Given the description of an element on the screen output the (x, y) to click on. 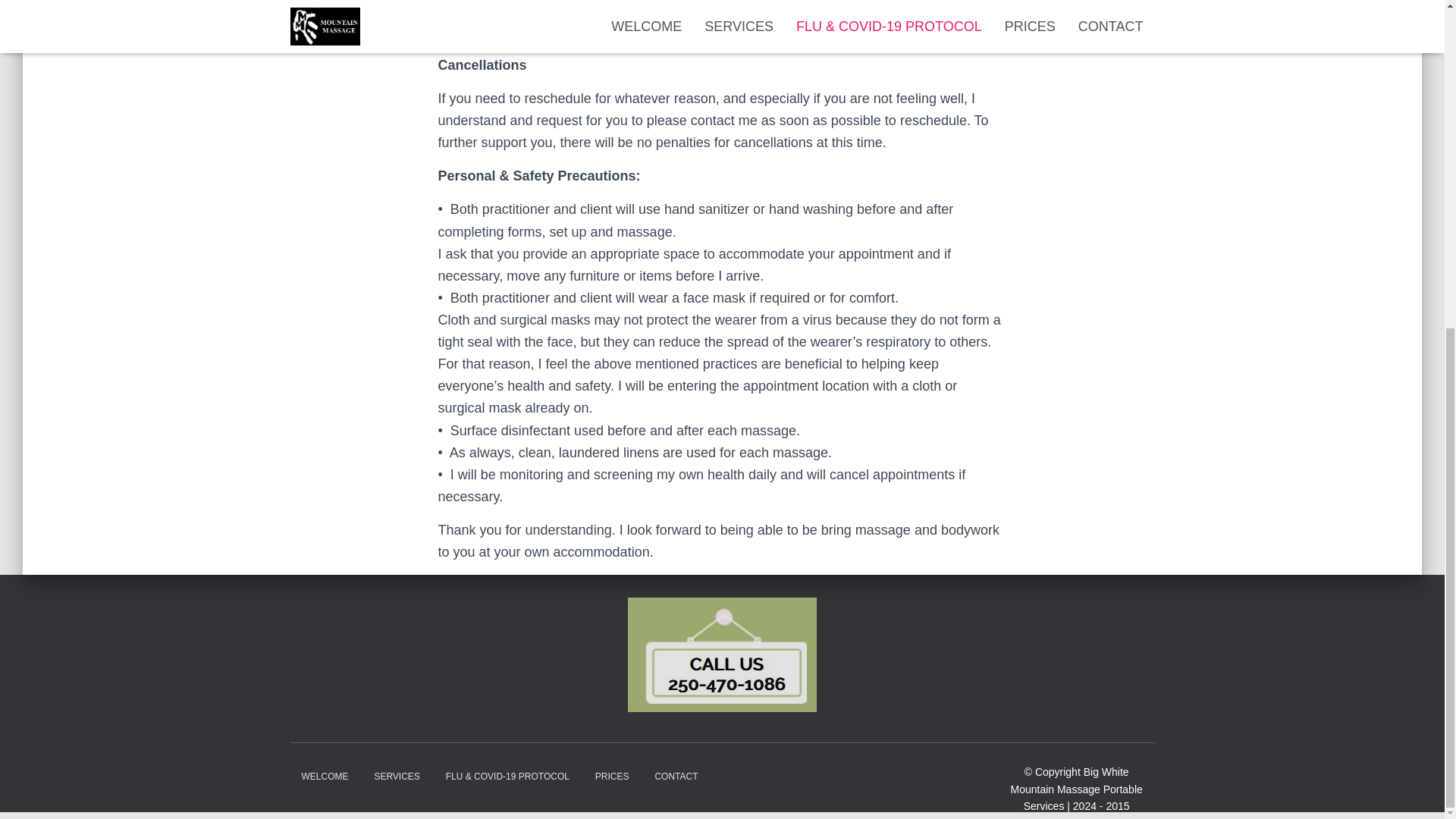
WELCOME (324, 776)
SERVICES (396, 776)
CONTACT (676, 776)
PRICES (611, 776)
